Given the description of an element on the screen output the (x, y) to click on. 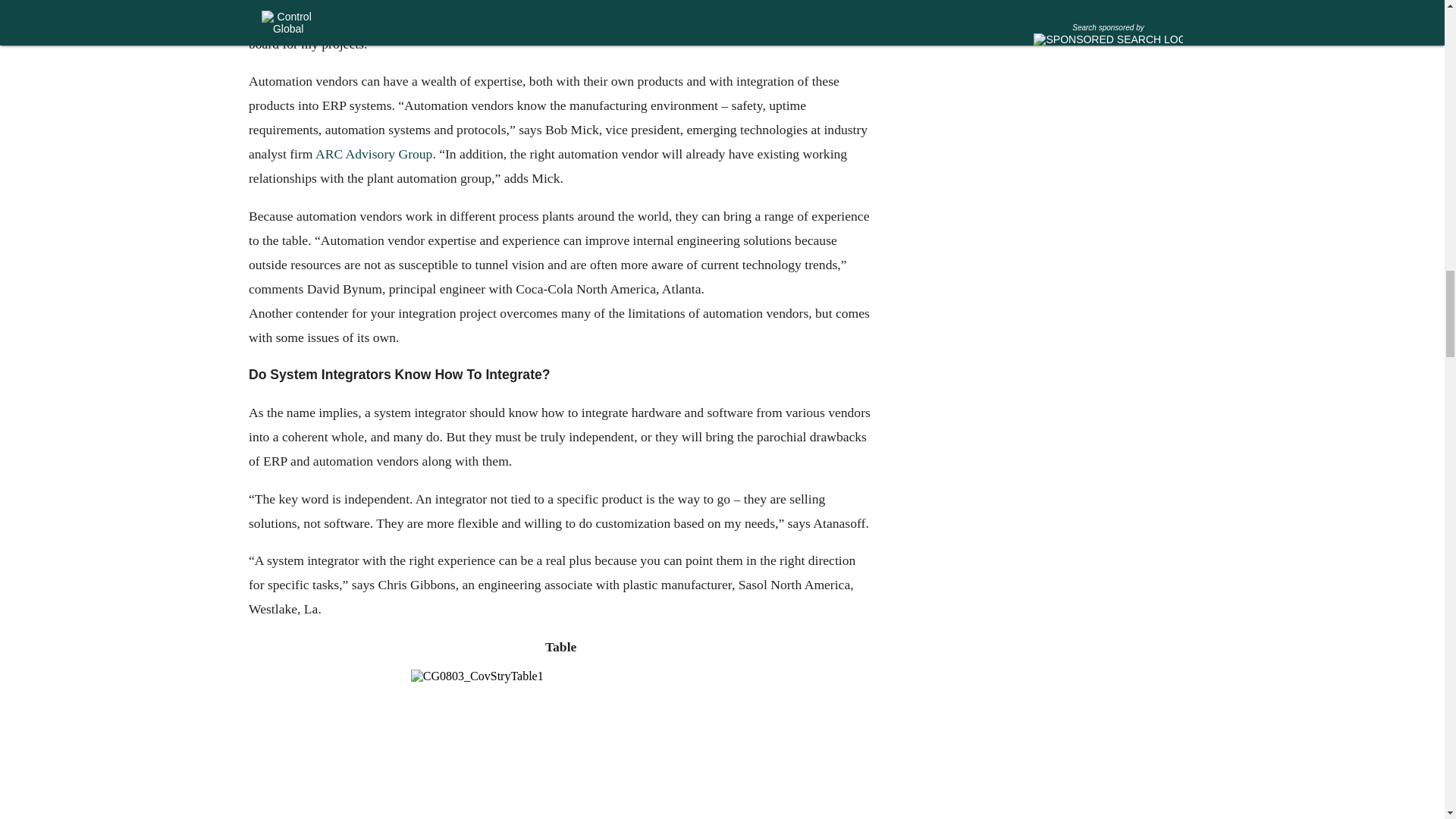
ARC Advisory Group (372, 153)
